Given the description of an element on the screen output the (x, y) to click on. 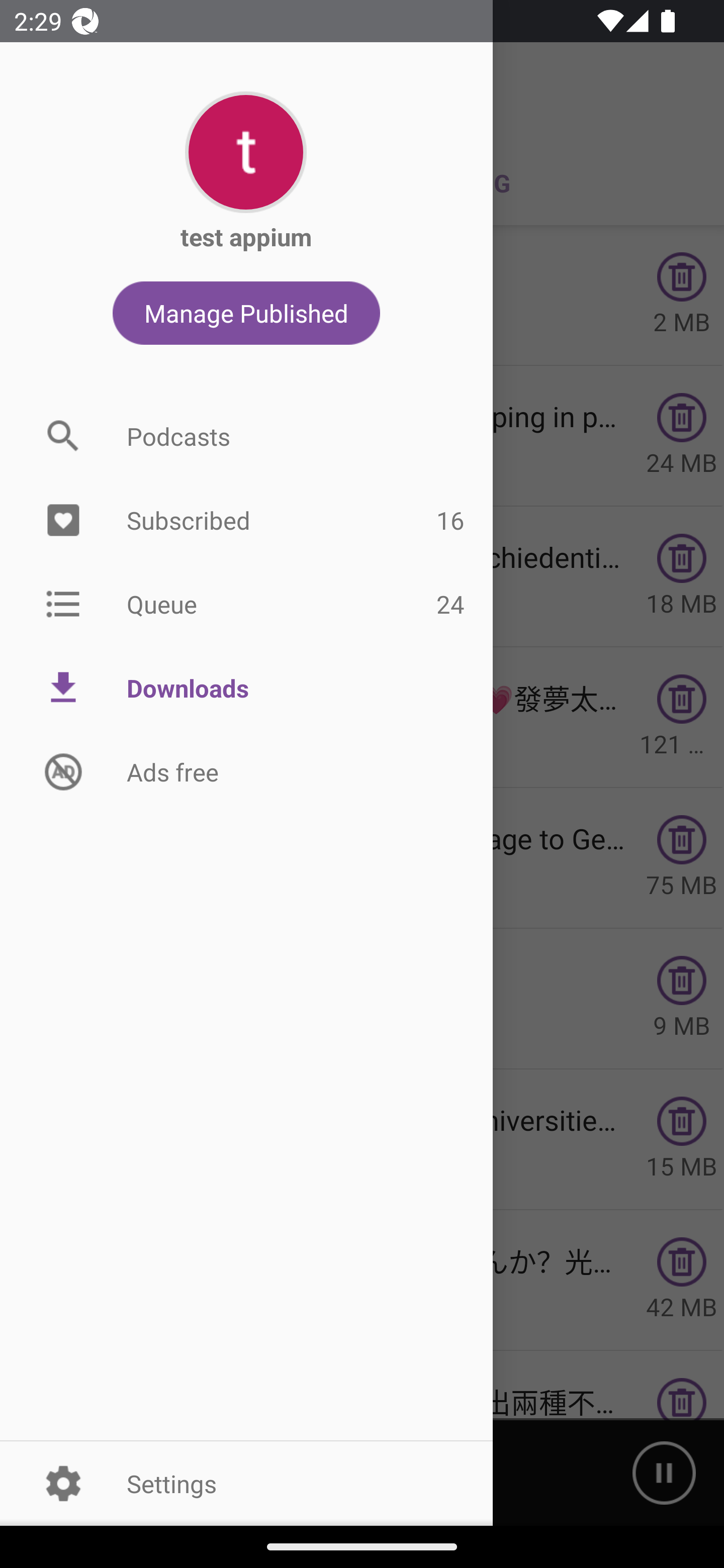
Manage Published (246, 312)
Picture Podcasts (246, 435)
Picture Subscribed 16 (246, 520)
Picture Queue 24 (246, 603)
Picture Downloads (246, 688)
Picture Ads free (246, 771)
Settings Picture Settings (246, 1482)
